Given the description of an element on the screen output the (x, y) to click on. 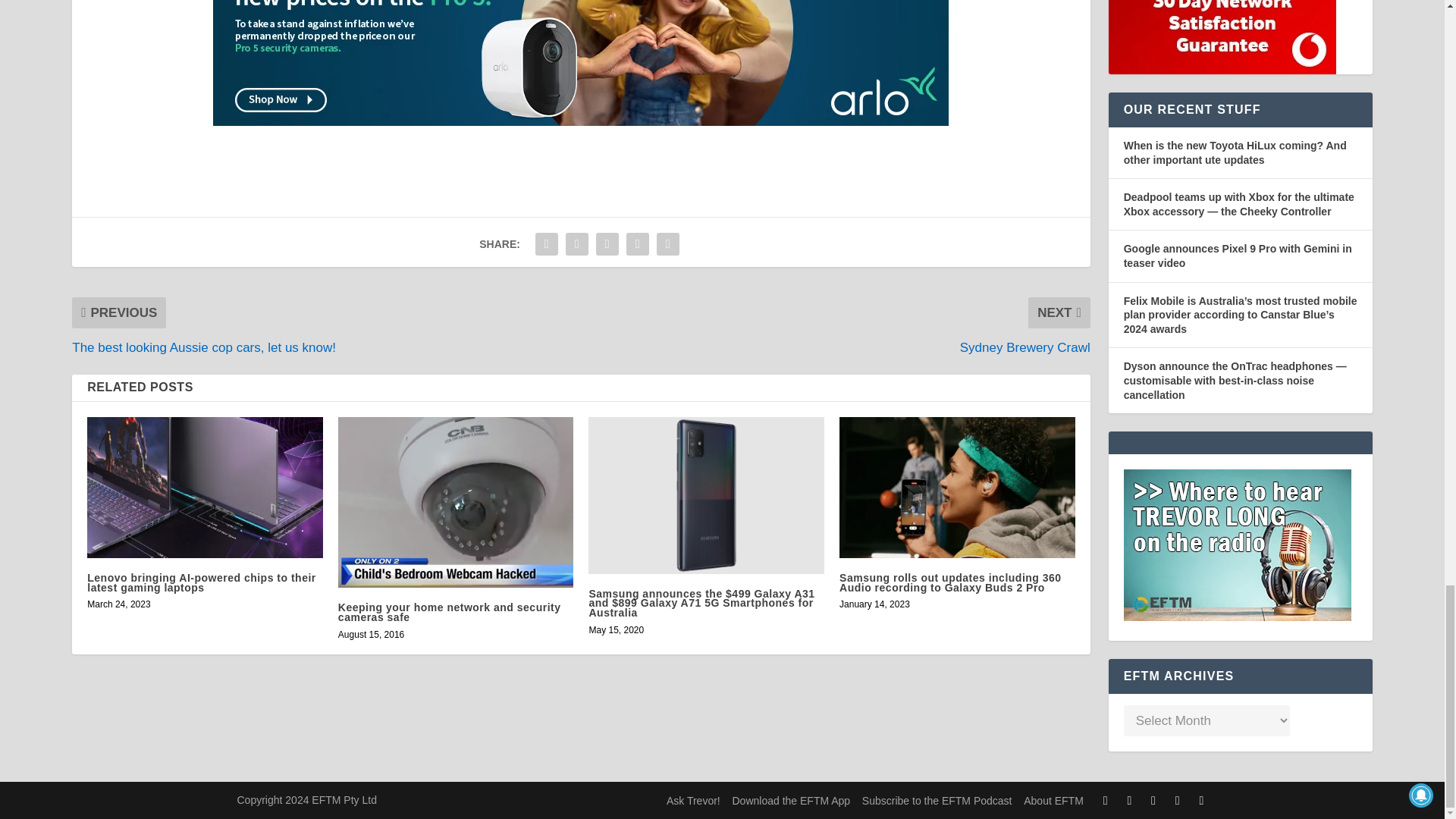
Keeping your home network and security cameras safe (455, 502)
